Given the description of an element on the screen output the (x, y) to click on. 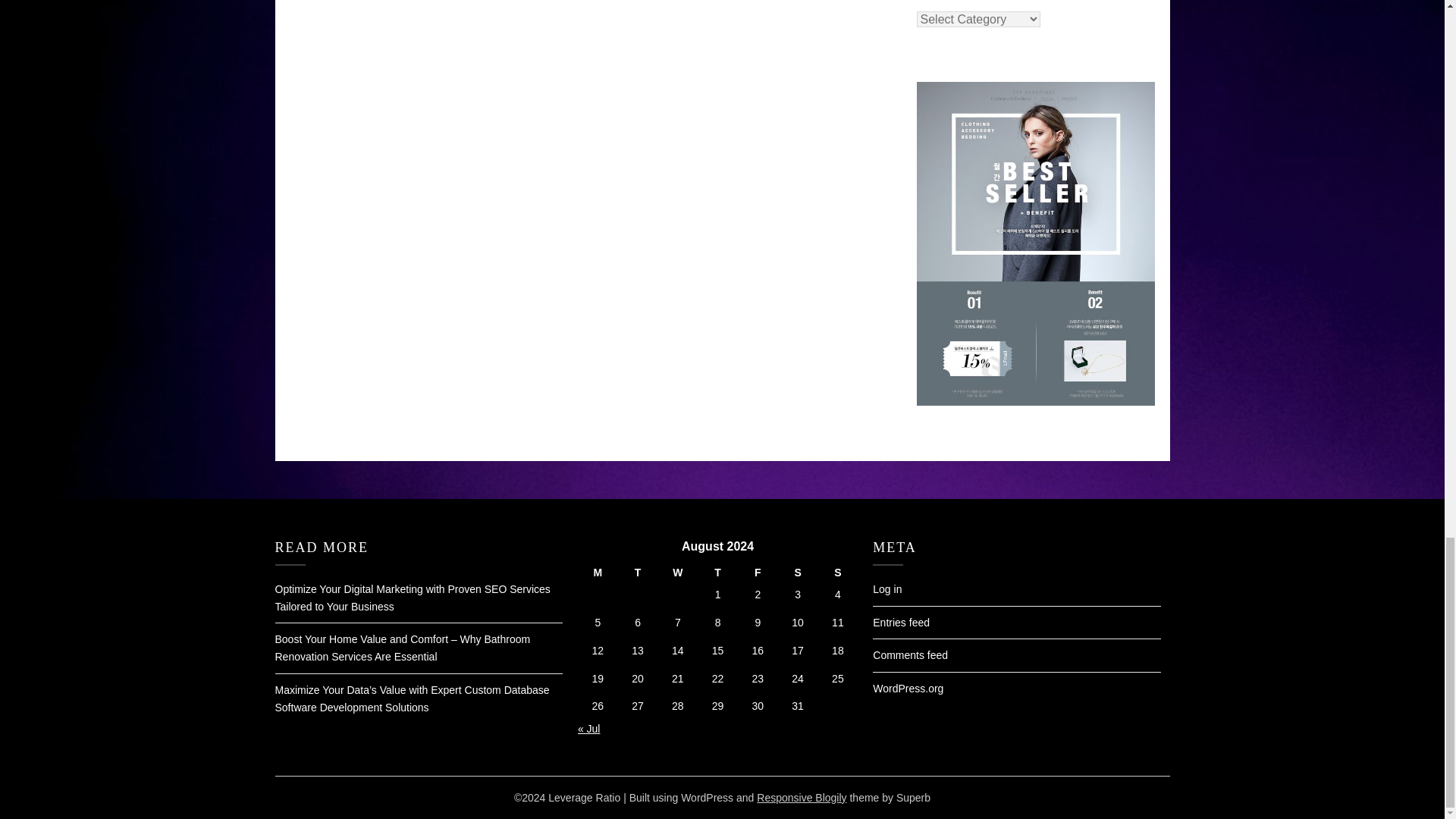
Comments feed (909, 654)
Sunday (836, 572)
Saturday (797, 572)
Thursday (717, 572)
Tuesday (637, 572)
Friday (757, 572)
Responsive Blogily (801, 797)
Log in (886, 589)
Monday (597, 572)
WordPress.org (907, 688)
Entries feed (901, 622)
Wednesday (677, 572)
